Given the description of an element on the screen output the (x, y) to click on. 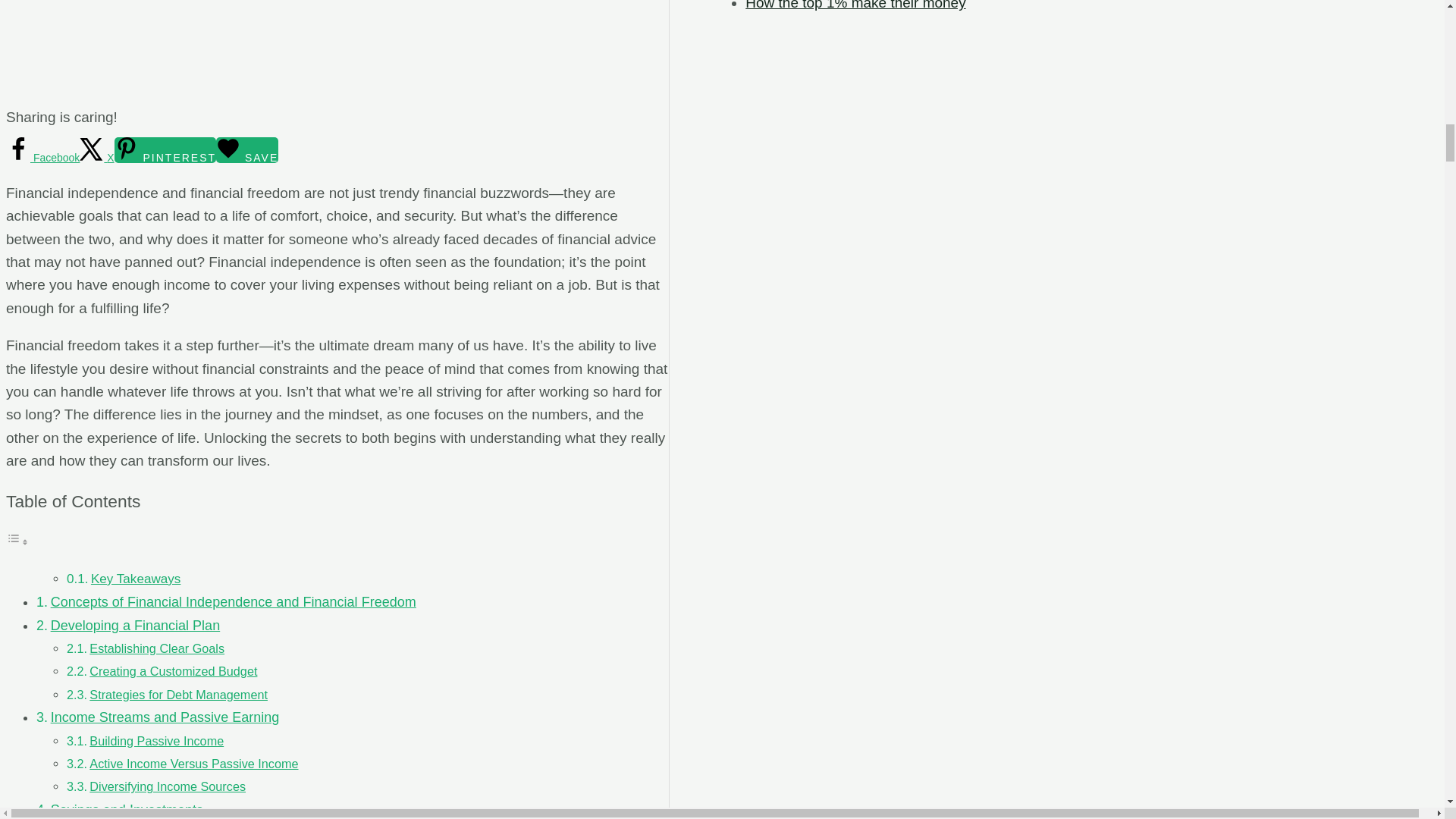
Key Takeaways (135, 578)
Share on Facebook (42, 157)
Concepts of Financial Independence and Financial Freedom (233, 601)
Building Passive Income (156, 740)
Income Streams and Passive Earning (164, 717)
Share on X (96, 157)
PINTEREST (165, 149)
Save on Grow.me (246, 149)
Strategies for Debt Management (177, 694)
Developing a Financial Plan (135, 625)
